Given the description of an element on the screen output the (x, y) to click on. 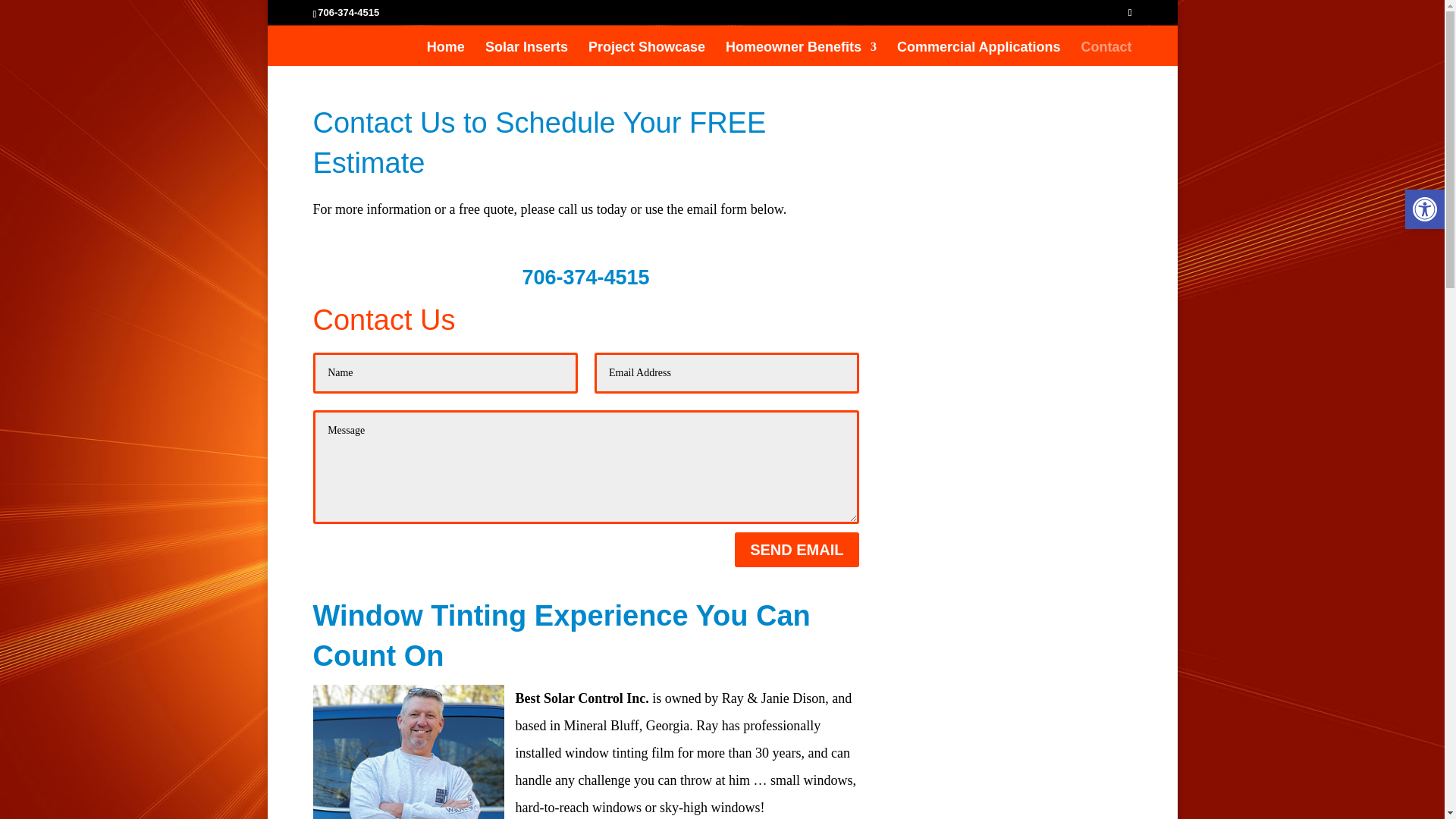
Home (445, 53)
SEND EMAIL (797, 549)
706-374-4515 (347, 12)
Solar Inserts (525, 53)
706-374-4515 (585, 277)
Contact (1106, 53)
Home (445, 53)
Accessibility Tools (1424, 209)
Project Showcase (646, 53)
Commercial Applications (977, 53)
Homeowner Benefits (800, 53)
